Given the description of an element on the screen output the (x, y) to click on. 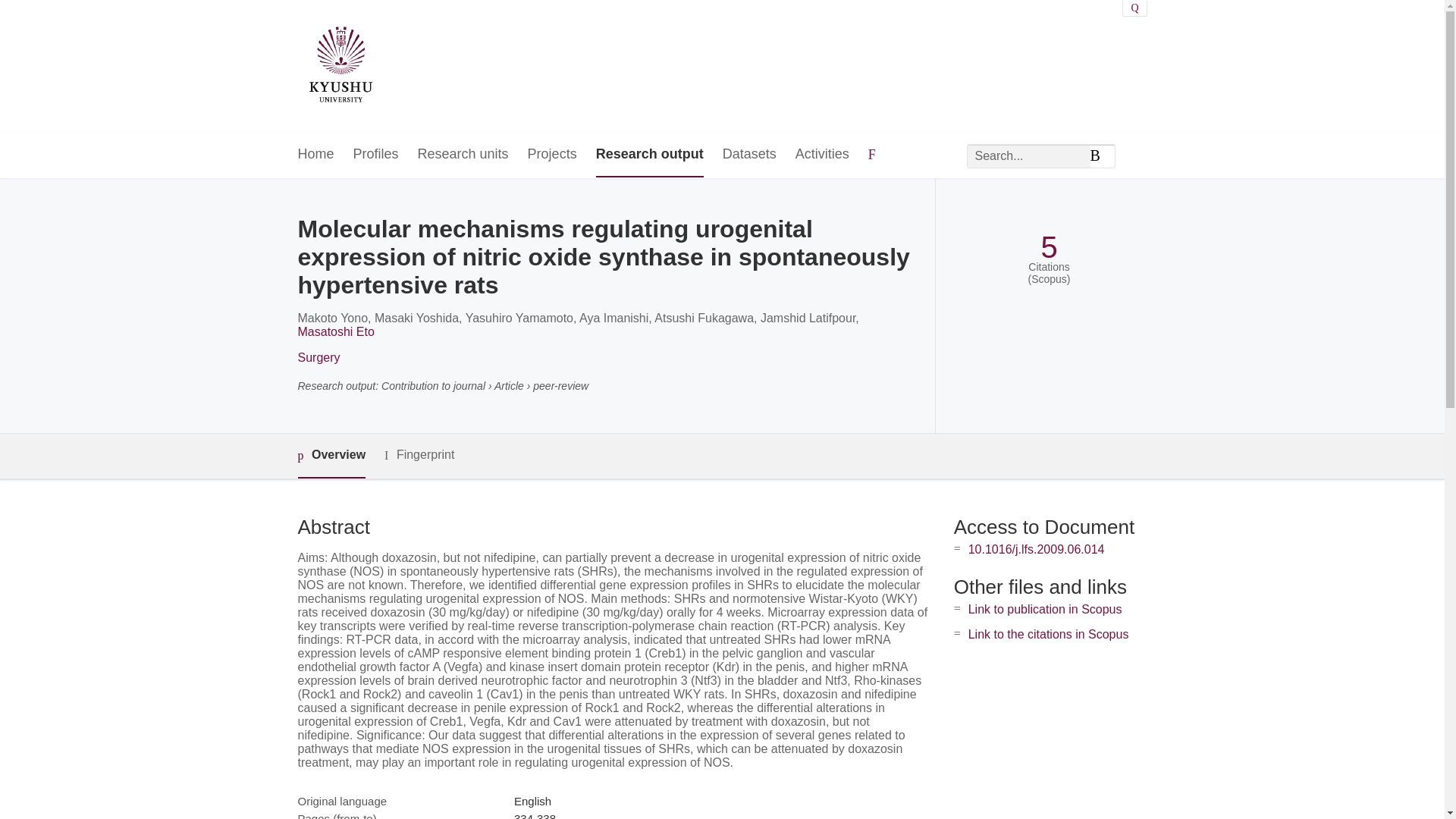
Surgery (318, 357)
Link to the citations in Scopus (1048, 634)
Activities (821, 154)
Research output (649, 154)
Datasets (749, 154)
Profiles (375, 154)
Home (315, 154)
Overview (331, 456)
Fingerprint (419, 455)
Research units (462, 154)
Link to publication in Scopus (1045, 608)
Kyushu University Home (340, 66)
5 (1049, 247)
Masatoshi Eto (335, 331)
